Given the description of an element on the screen output the (x, y) to click on. 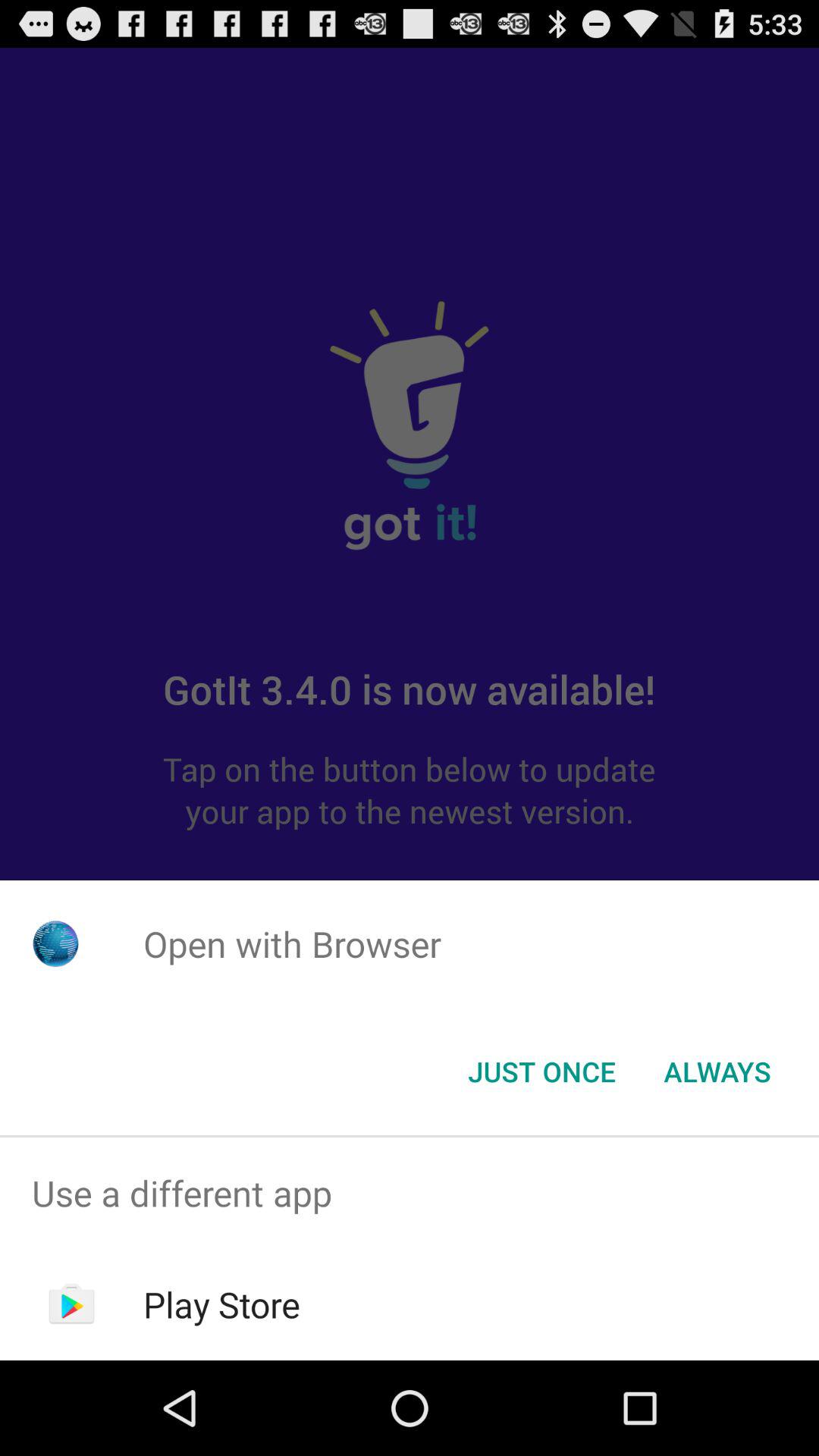
swipe until just once (541, 1071)
